Given the description of an element on the screen output the (x, y) to click on. 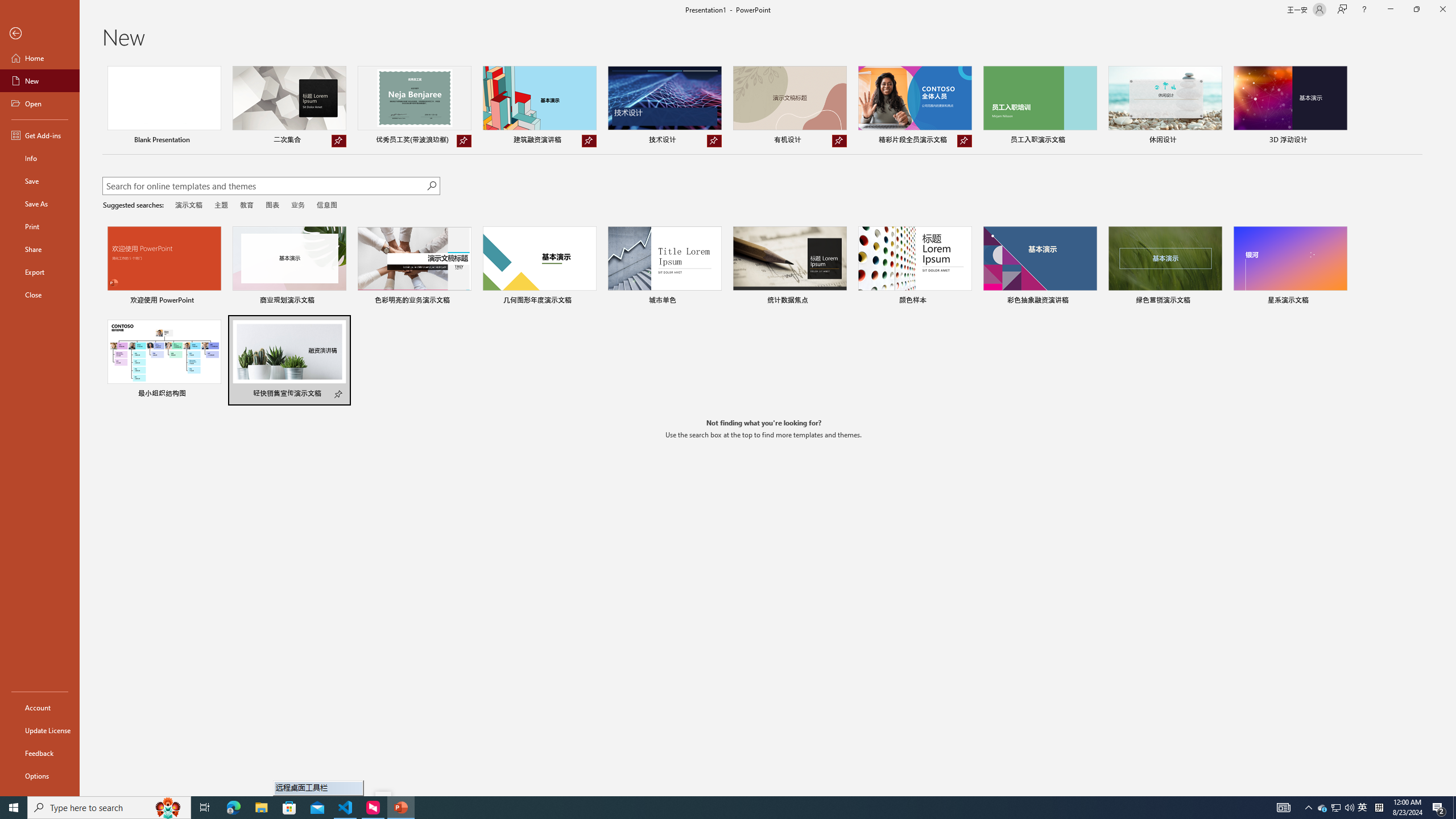
Export (40, 271)
Print (40, 225)
Get Add-ins (40, 134)
New (40, 80)
Account (40, 707)
Options (40, 775)
